Given the description of an element on the screen output the (x, y) to click on. 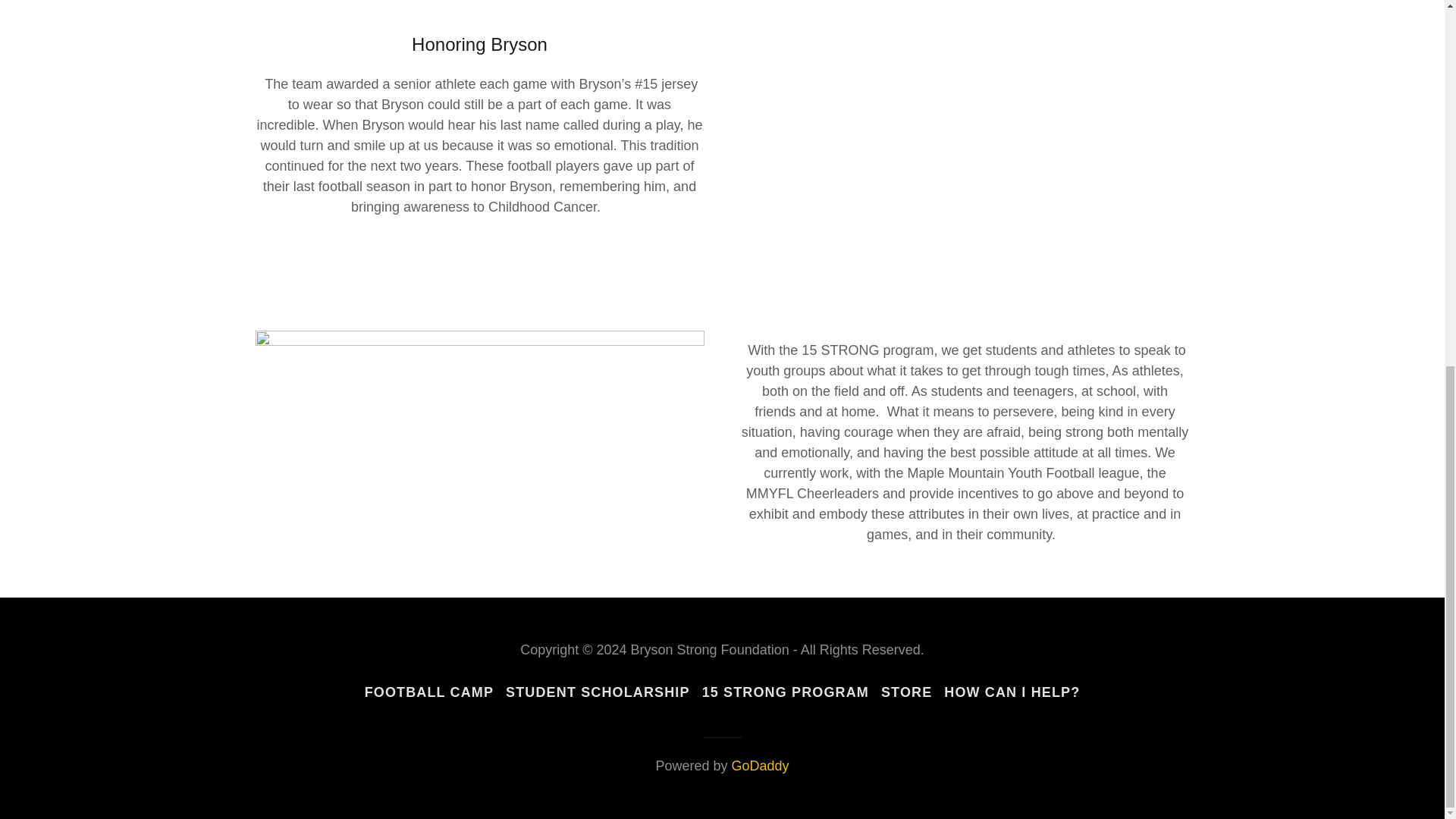
ACCEPT (1274, 484)
STORE (906, 692)
FOOTBALL CAMP (428, 692)
HOW CAN I HELP? (1011, 692)
GoDaddy (759, 765)
15 STRONG PROGRAM (785, 692)
STUDENT SCHOLARSHIP (597, 692)
